Given the description of an element on the screen output the (x, y) to click on. 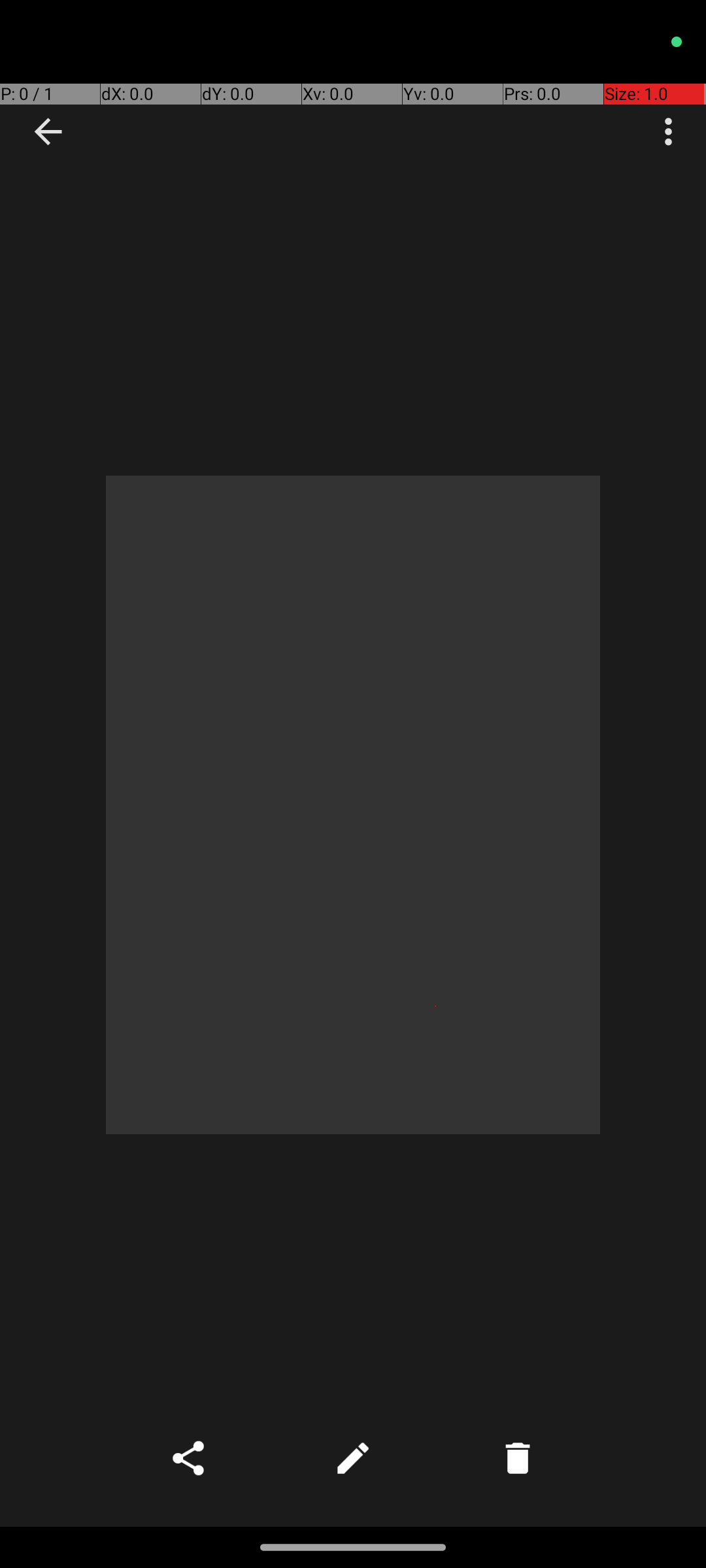
Edit Element type: android.widget.ImageButton (352, 1458)
Delete Element type: android.widget.ImageButton (517, 1458)
Navigate up Element type: android.widget.ImageButton (48, 131)
Photo taken on Oct 15, 2023 15:34:17 Element type: android.widget.ImageView (352, 804)
